Given the description of an element on the screen output the (x, y) to click on. 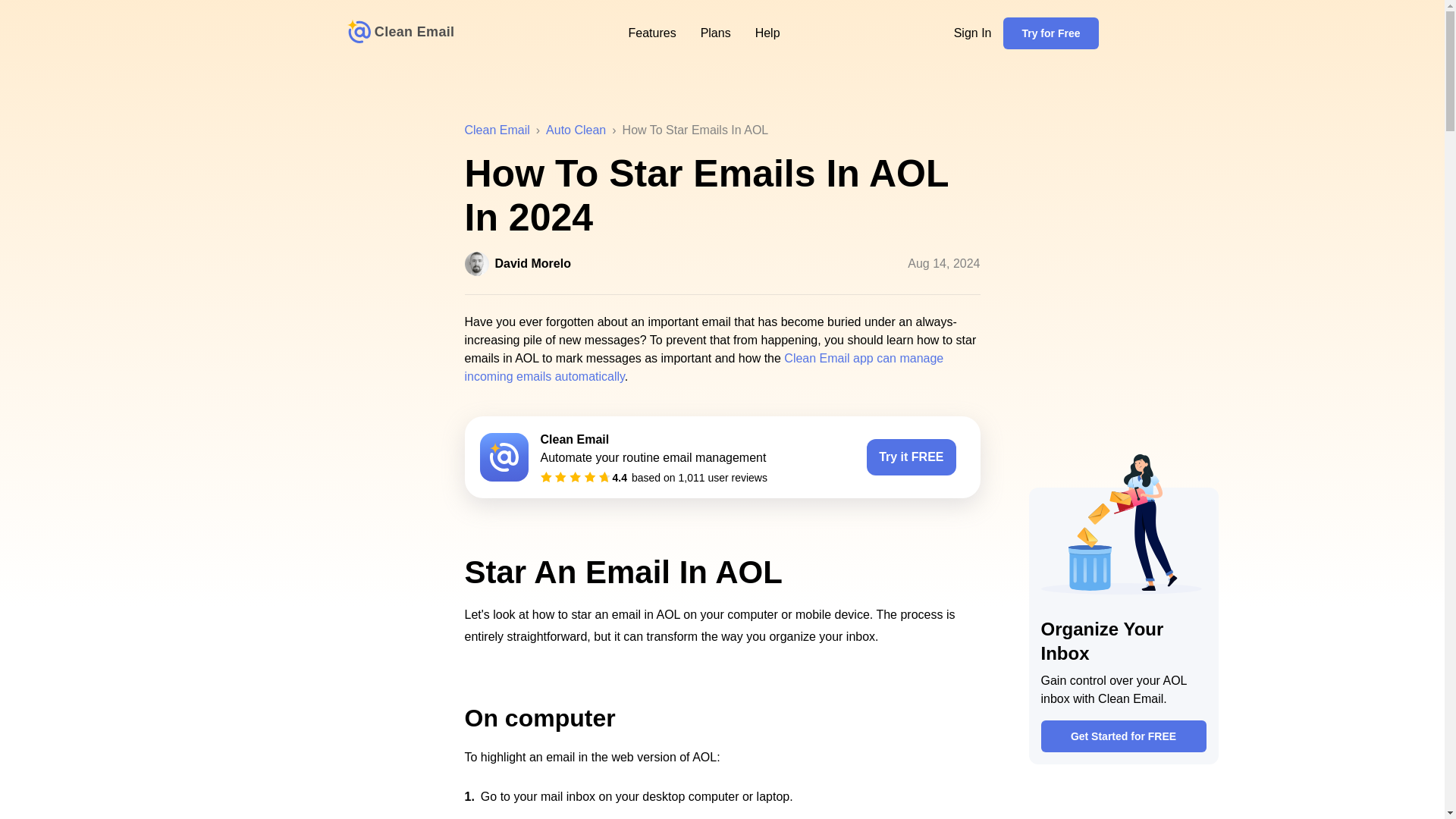
Features (651, 33)
Clean Email (496, 129)
 Clean Email (400, 32)
Sign In (972, 33)
Try it FREE (910, 456)
Try for Free (1050, 33)
Get Started for FREE (1123, 736)
Home (400, 32)
Auto Clean (575, 129)
